Given the description of an element on the screen output the (x, y) to click on. 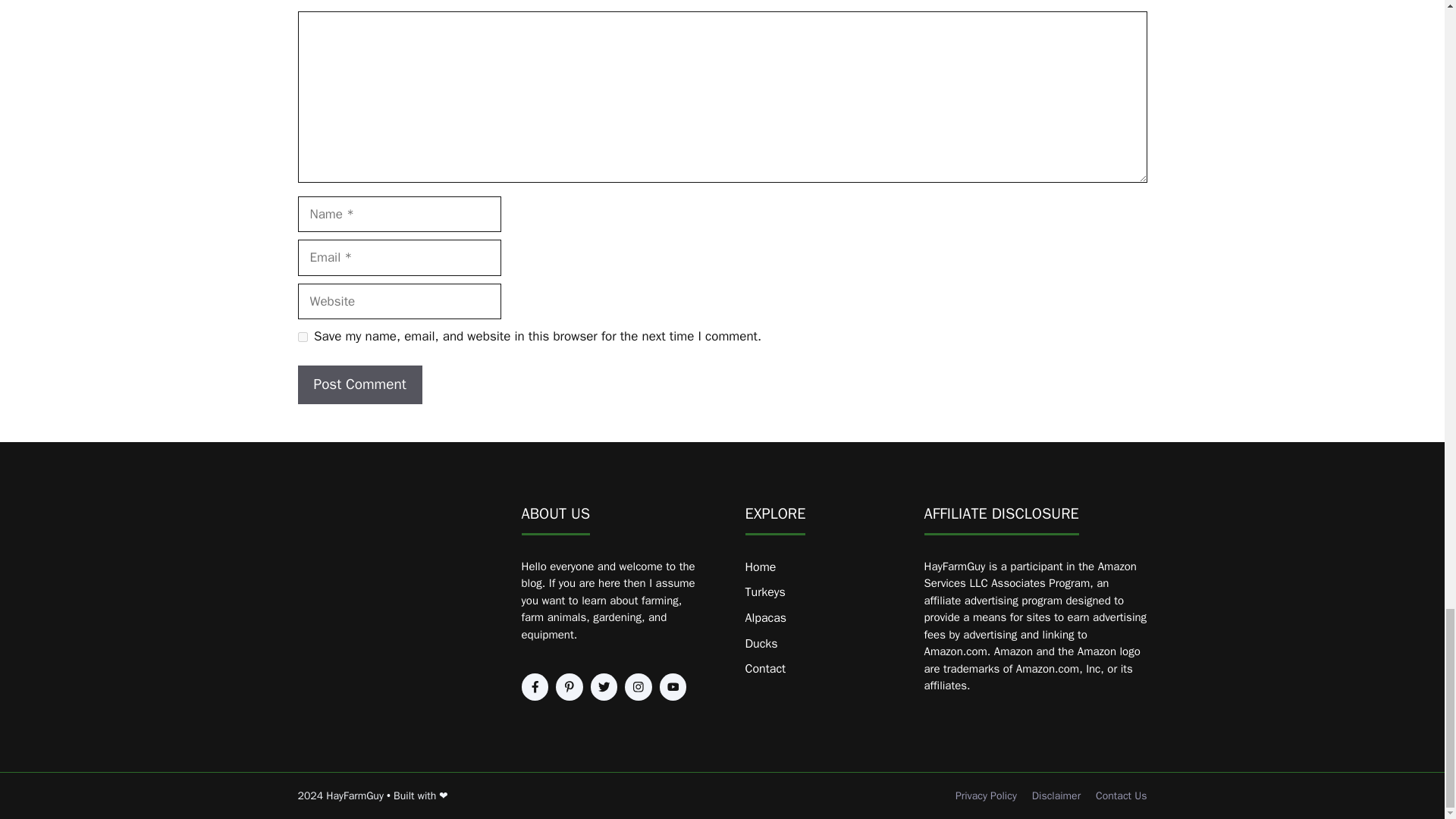
Post Comment (359, 384)
yes (302, 337)
